Given the description of an element on the screen output the (x, y) to click on. 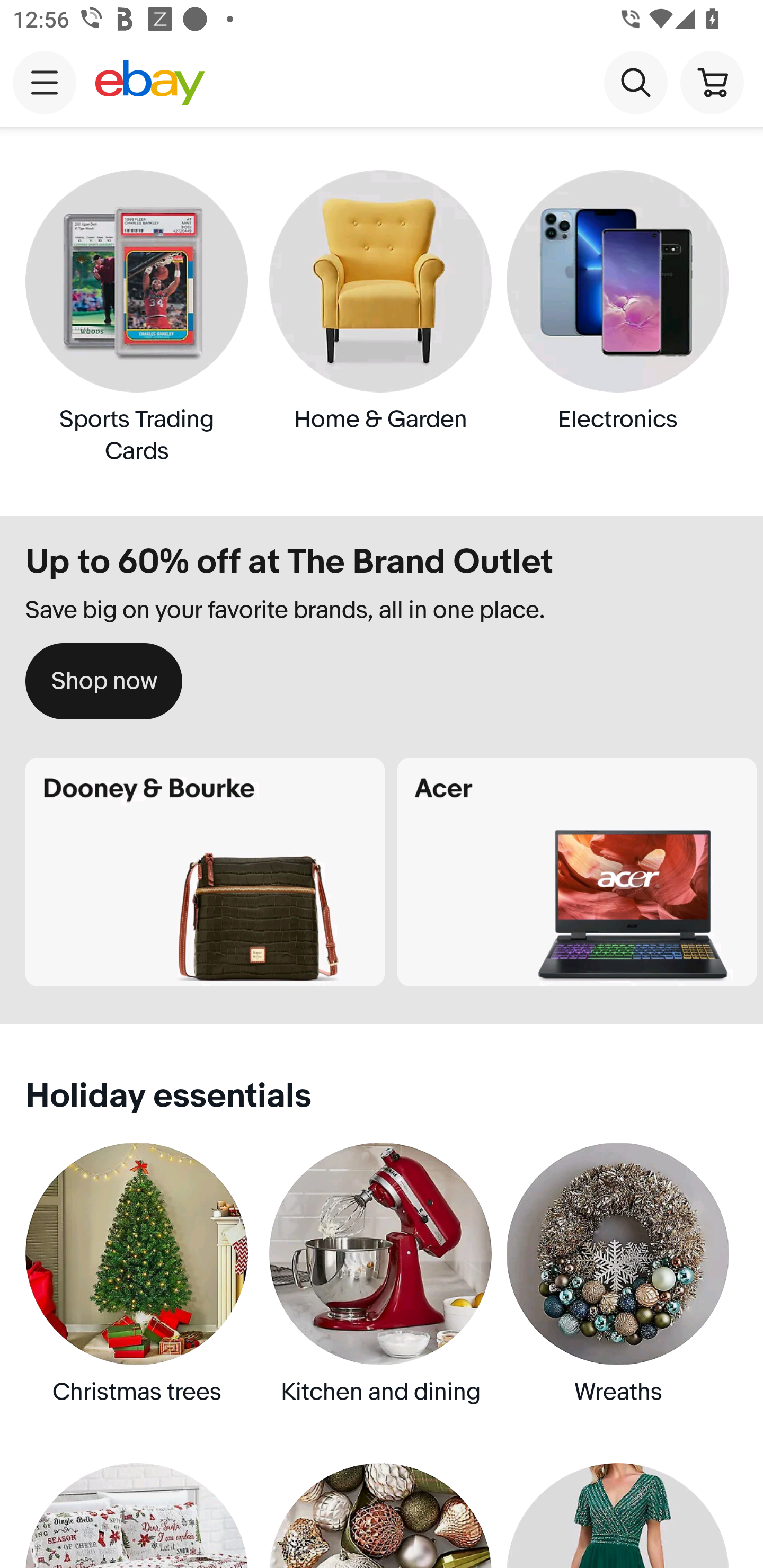
Main navigation, open (44, 82)
Search (635, 81)
Cart button shopping cart (711, 81)
Sports Trading Cards (140, 317)
Home & Garden (381, 317)
Electronics (621, 317)
Up to 60% off at The Brand Outlet (381, 549)
Shop now (103, 680)
Christmas trees (140, 1290)
Kitchen and dining (381, 1290)
Wreaths (621, 1290)
